Given the description of an element on the screen output the (x, y) to click on. 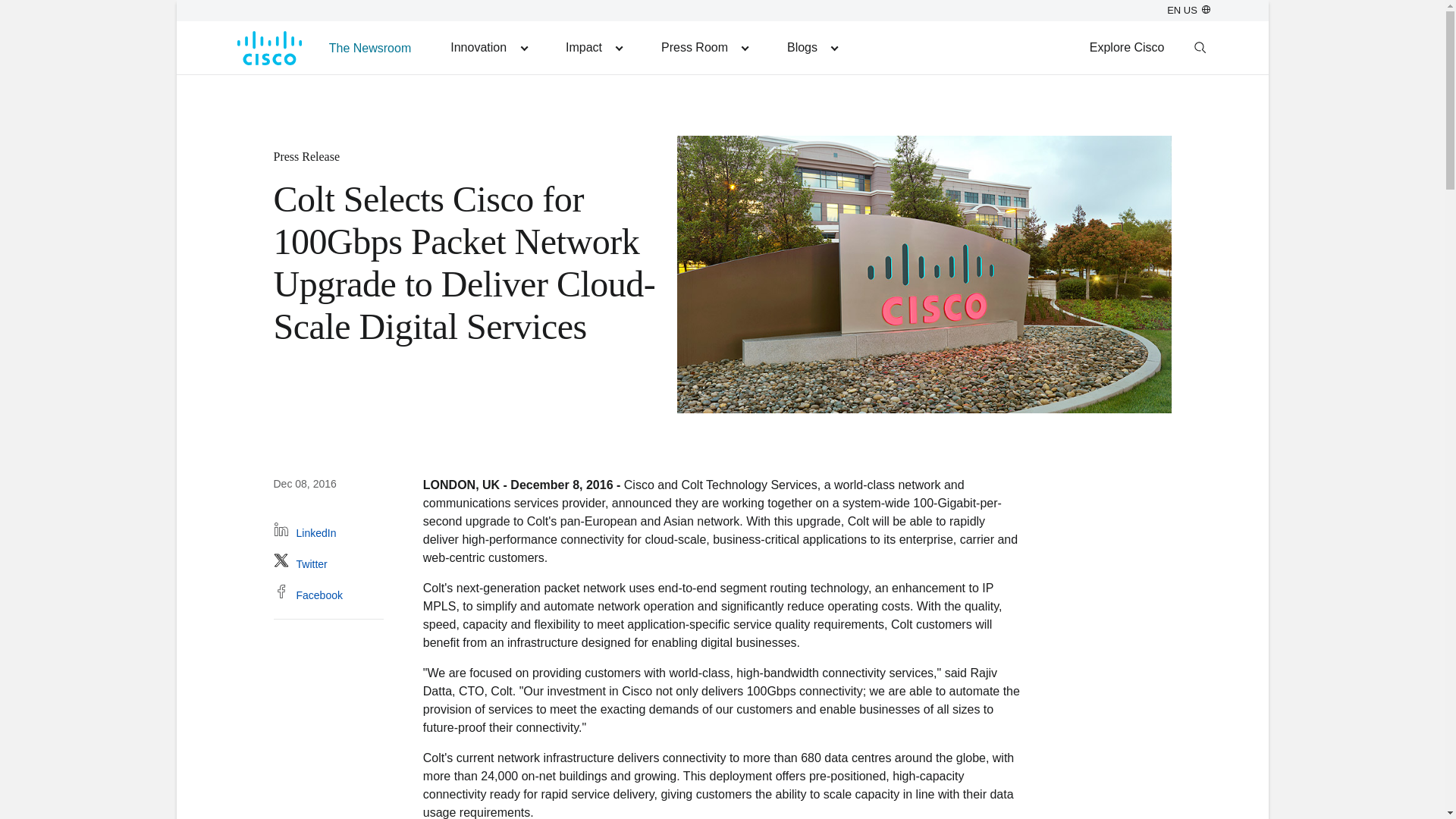
Impact (593, 47)
Press Room (704, 47)
EN US (1188, 10)
Blogs (811, 47)
Impact (593, 47)
Media Center (704, 47)
Explore Cisco (1126, 47)
Innovation (488, 47)
The Newsroom (370, 47)
Blogs (811, 47)
Innovation (488, 47)
